Given the description of an element on the screen output the (x, y) to click on. 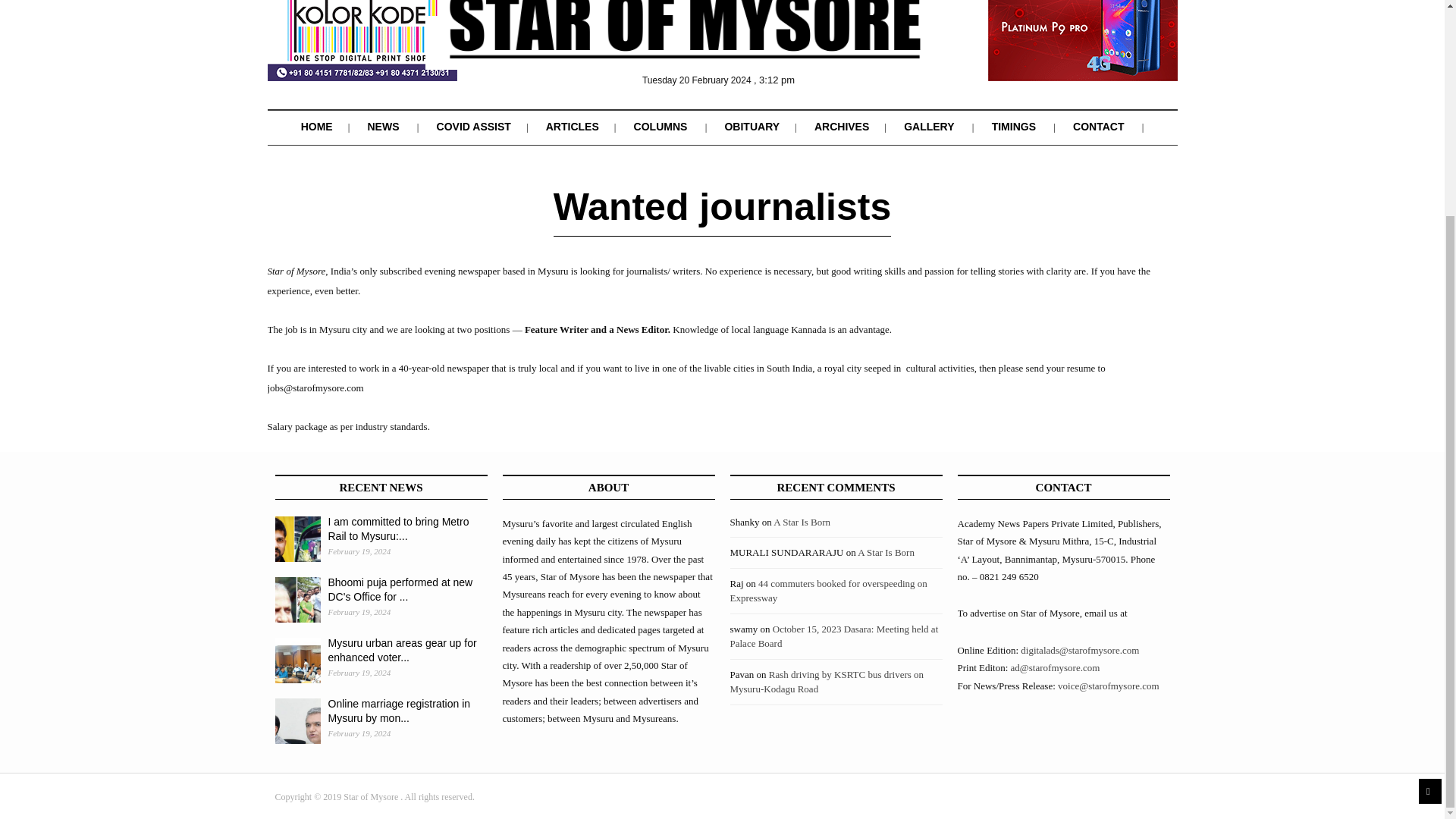
Star of Mysore (684, 42)
